Given the description of an element on the screen output the (x, y) to click on. 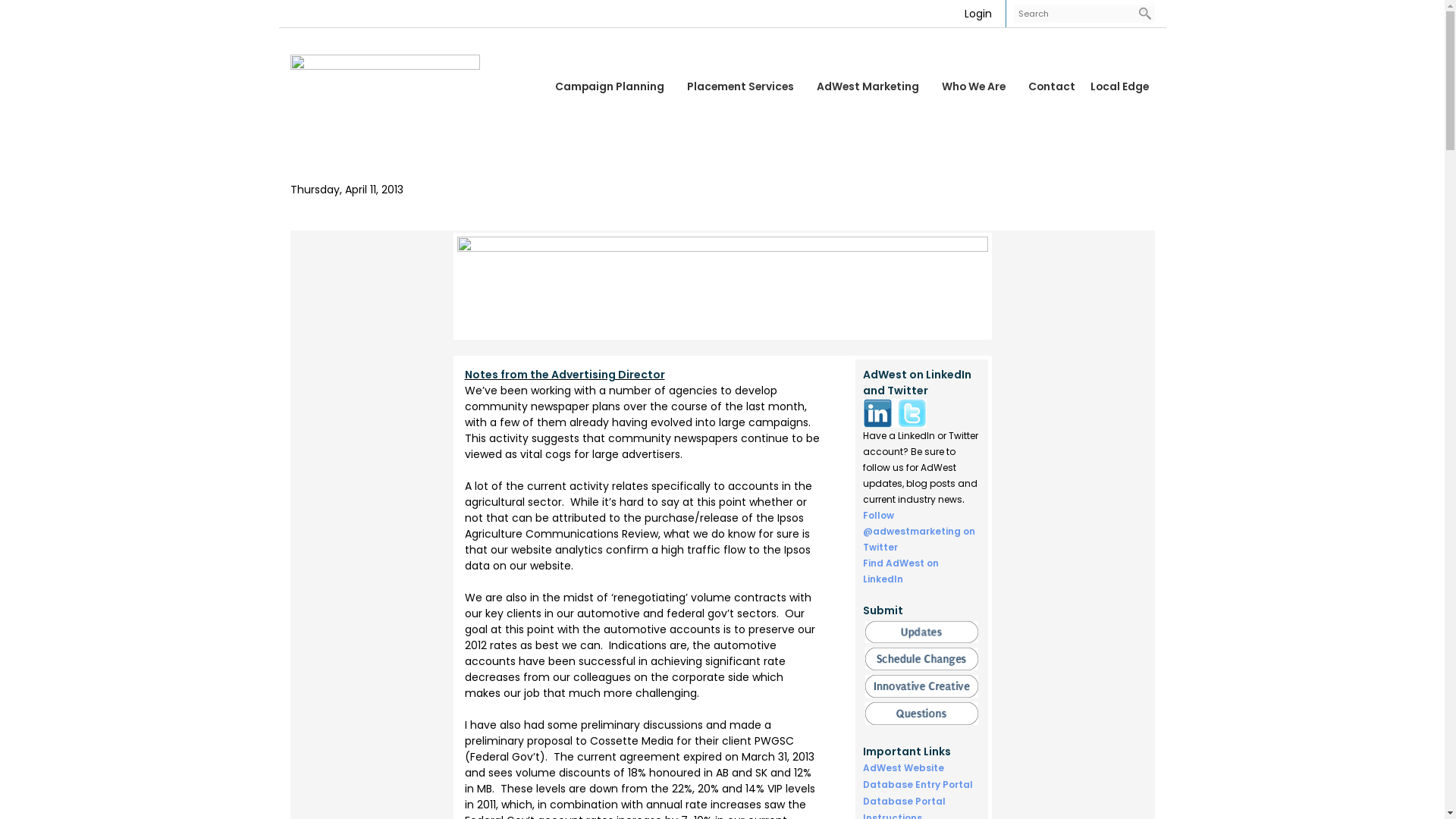
Who We Are Element type: text (977, 86)
Follow @adwestmarketing on Twitter Element type: text (918, 530)
AdWest Marketing Element type: text (870, 86)
Local Edge Element type: text (1119, 86)
AdWest Website Element type: text (903, 767)
Contact Element type: text (1051, 86)
Find AdWest on LinkedIn Element type: text (900, 570)
Placement Services Element type: text (744, 86)
Database Entry Portal Element type: text (917, 784)
Login Element type: text (978, 13)
Campaign Planning Element type: text (613, 86)
